Given the description of an element on the screen output the (x, y) to click on. 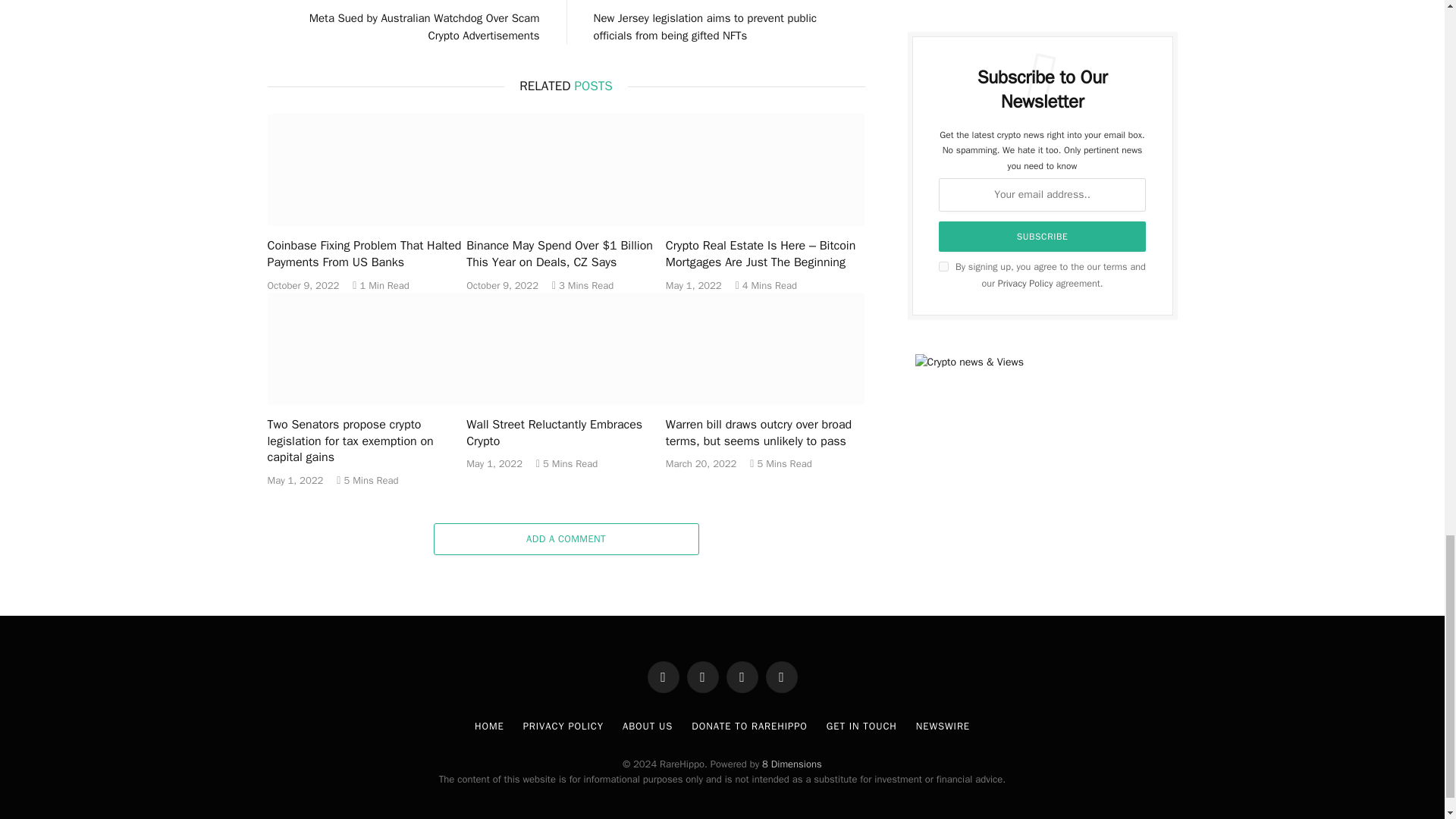
Subscribe (1043, 236)
on (944, 266)
